Given the description of an element on the screen output the (x, y) to click on. 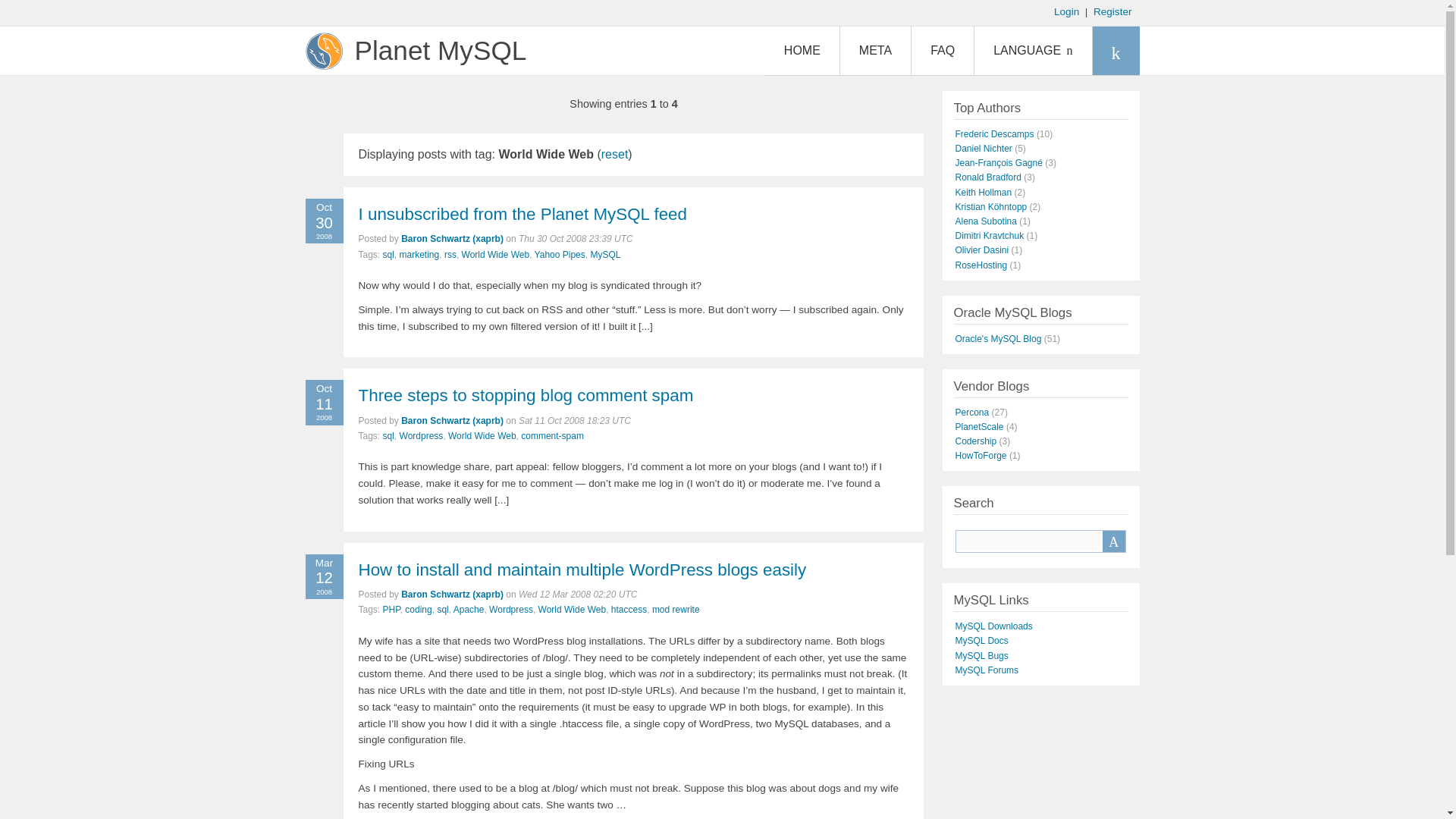
PHP (391, 609)
META (875, 50)
World Wide Web (495, 254)
MySQL (604, 254)
I unsubscribed from the Planet MySQL feed (522, 213)
HOME (802, 50)
LANGUAGE (1032, 50)
sql (388, 435)
Yahoo Pipes (559, 254)
coding (417, 609)
Login (1066, 11)
reset (614, 154)
How to install and maintain multiple WordPress blogs easily (582, 569)
Wordpress (421, 435)
Register (1112, 11)
